Given the description of an element on the screen output the (x, y) to click on. 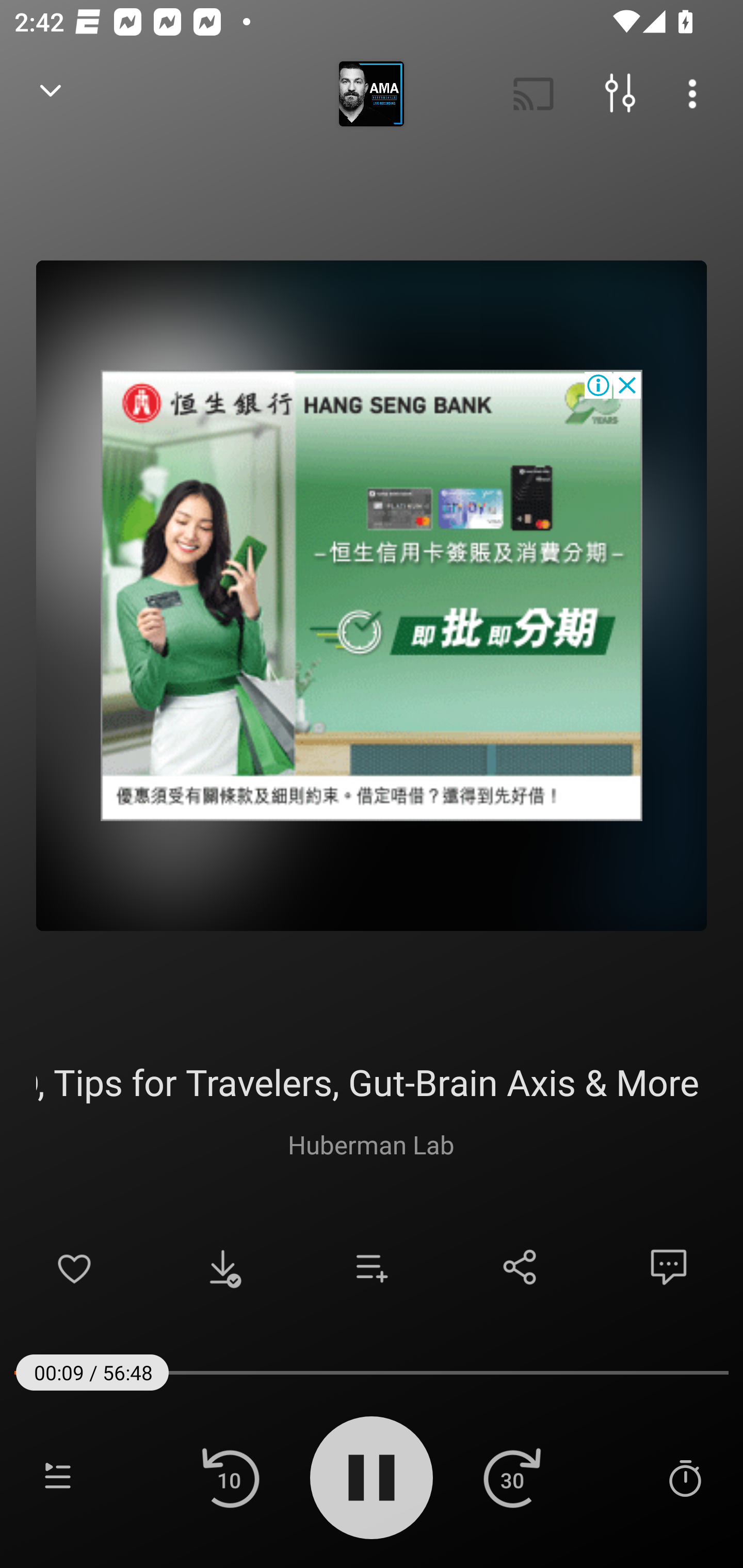
Cast. Disconnected (533, 93)
 Back (50, 94)
Advertisement (371, 595)
Huberman Lab (370, 1144)
Comments (668, 1266)
Add to Favorites (73, 1266)
Add to playlist (371, 1266)
Share (519, 1266)
 Playlist (57, 1477)
Sleep Timer  (684, 1477)
